Given the description of an element on the screen output the (x, y) to click on. 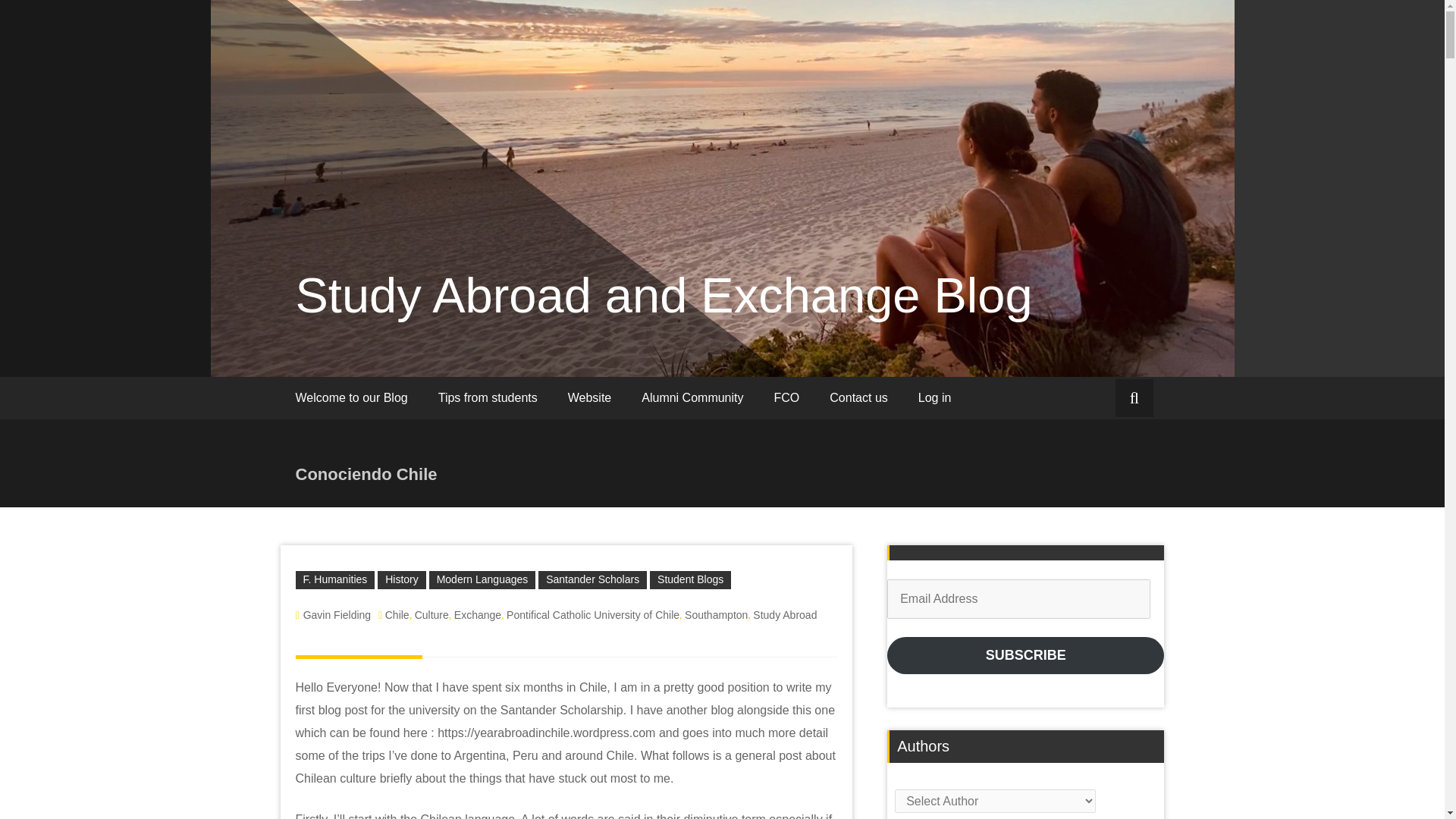
Log in (934, 134)
Pontifical Catholic University of Chile (592, 351)
Exchange (477, 351)
Welcome to our Blog (352, 134)
Alumni Community (692, 134)
History (401, 316)
Santander Scholars (592, 316)
Gavin Fielding (336, 351)
Study Abroad (784, 351)
Tips from students (488, 134)
F. Humanities (335, 316)
Student Blogs (689, 316)
Modern Languages (482, 316)
Website (590, 134)
FCO (786, 134)
